Given the description of an element on the screen output the (x, y) to click on. 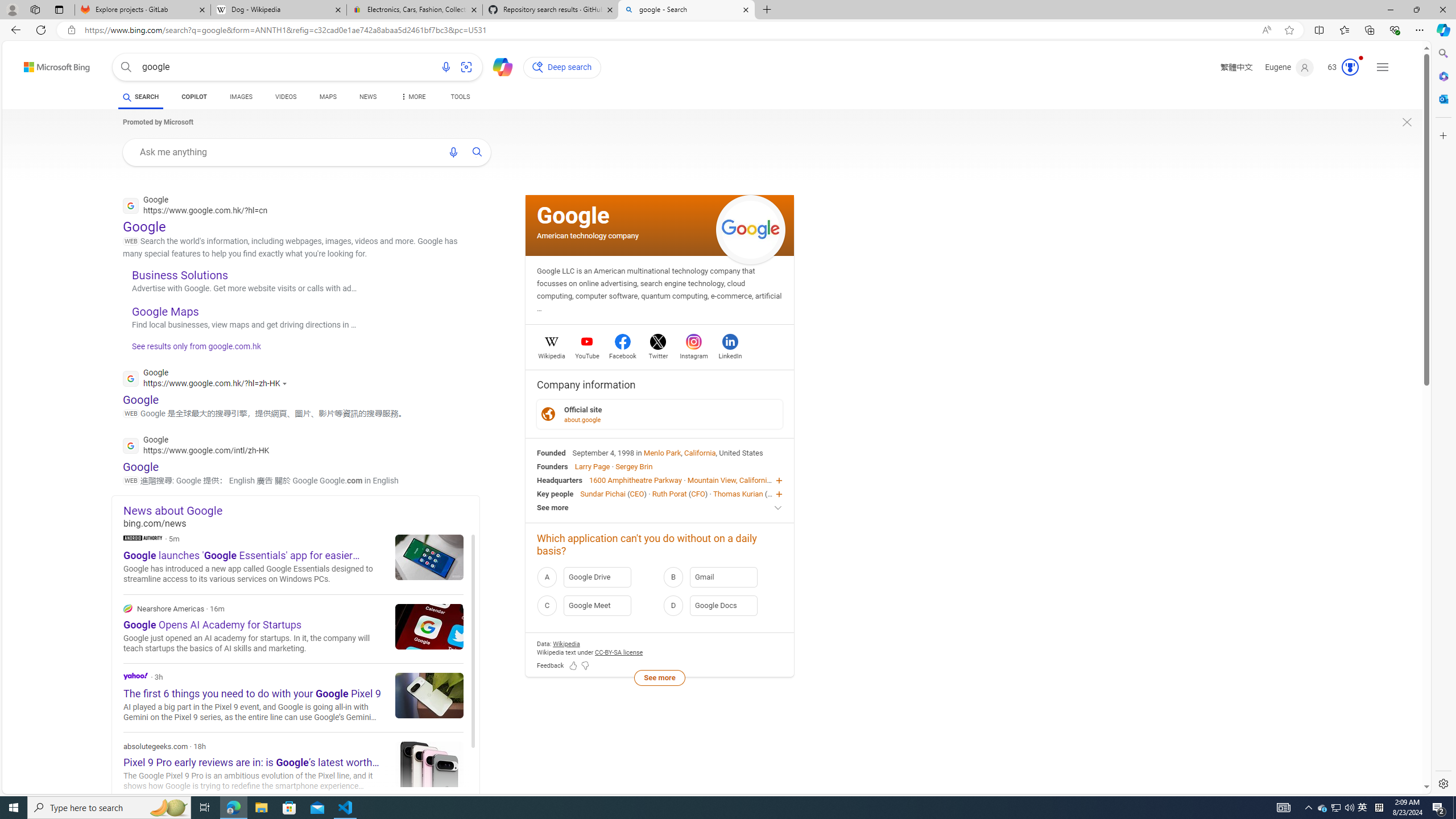
Official siteabout.google (660, 414)
Larry Page (592, 465)
COPILOT (193, 98)
google - Search (685, 9)
Key people (555, 492)
AutomationID: rh_meter (1350, 66)
California (700, 452)
A Google Drive (596, 576)
SEARCH (140, 96)
